Given the description of an element on the screen output the (x, y) to click on. 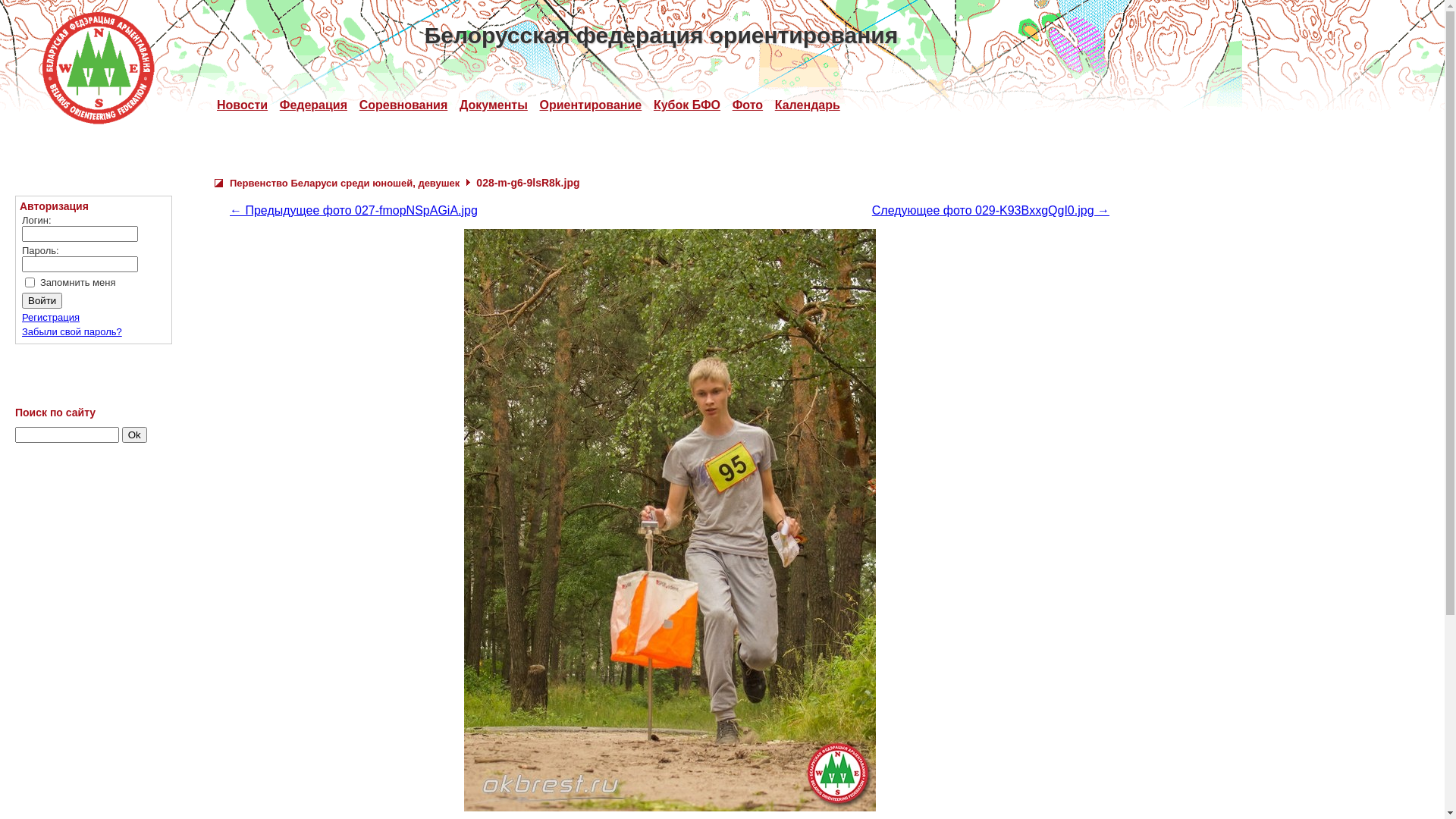
Ok Element type: text (134, 434)
028-m-g6-9lsR8k.jpg Element type: hover (669, 520)
